Given the description of an element on the screen output the (x, y) to click on. 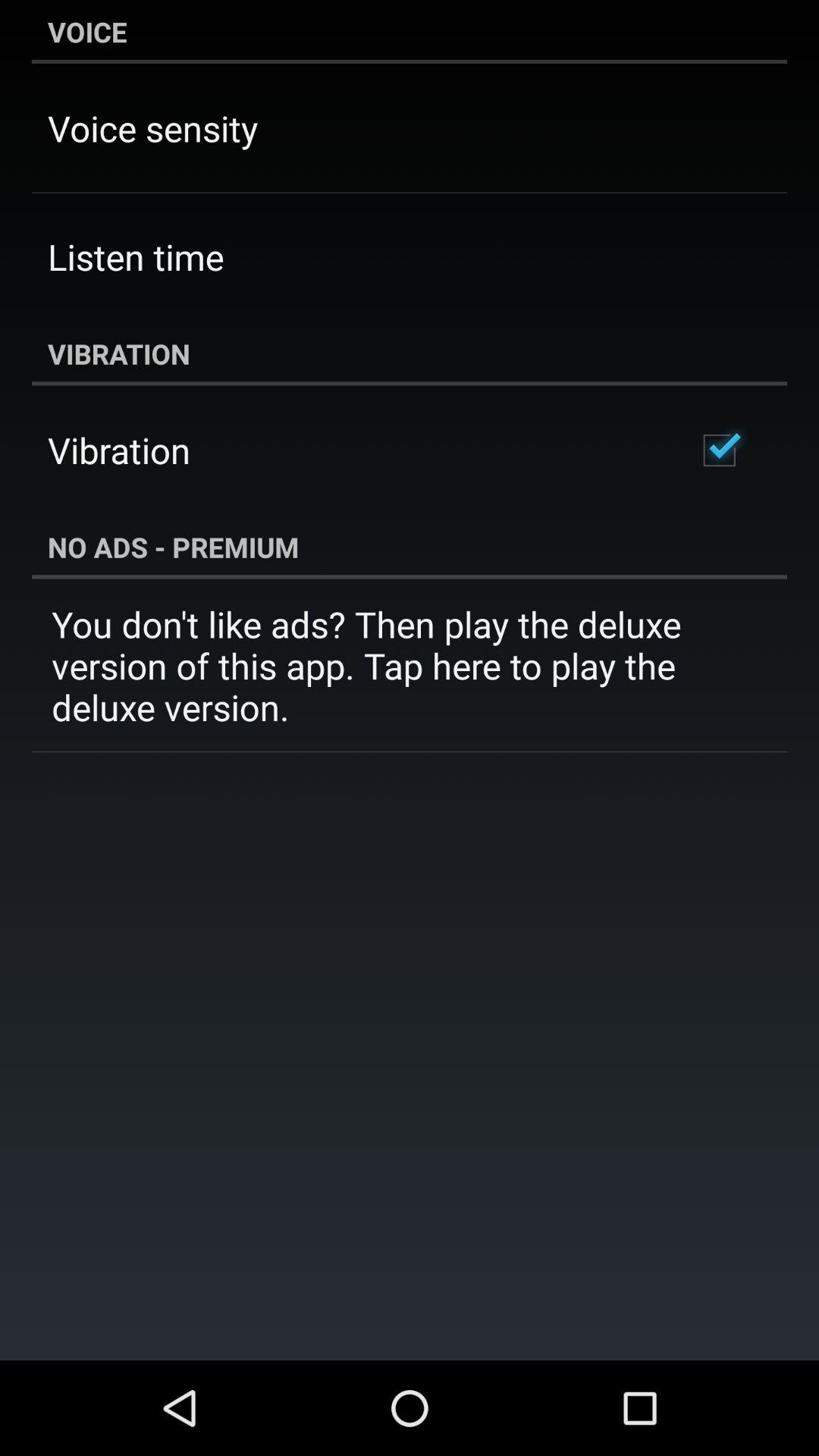
flip until the you don t app (409, 665)
